Given the description of an element on the screen output the (x, y) to click on. 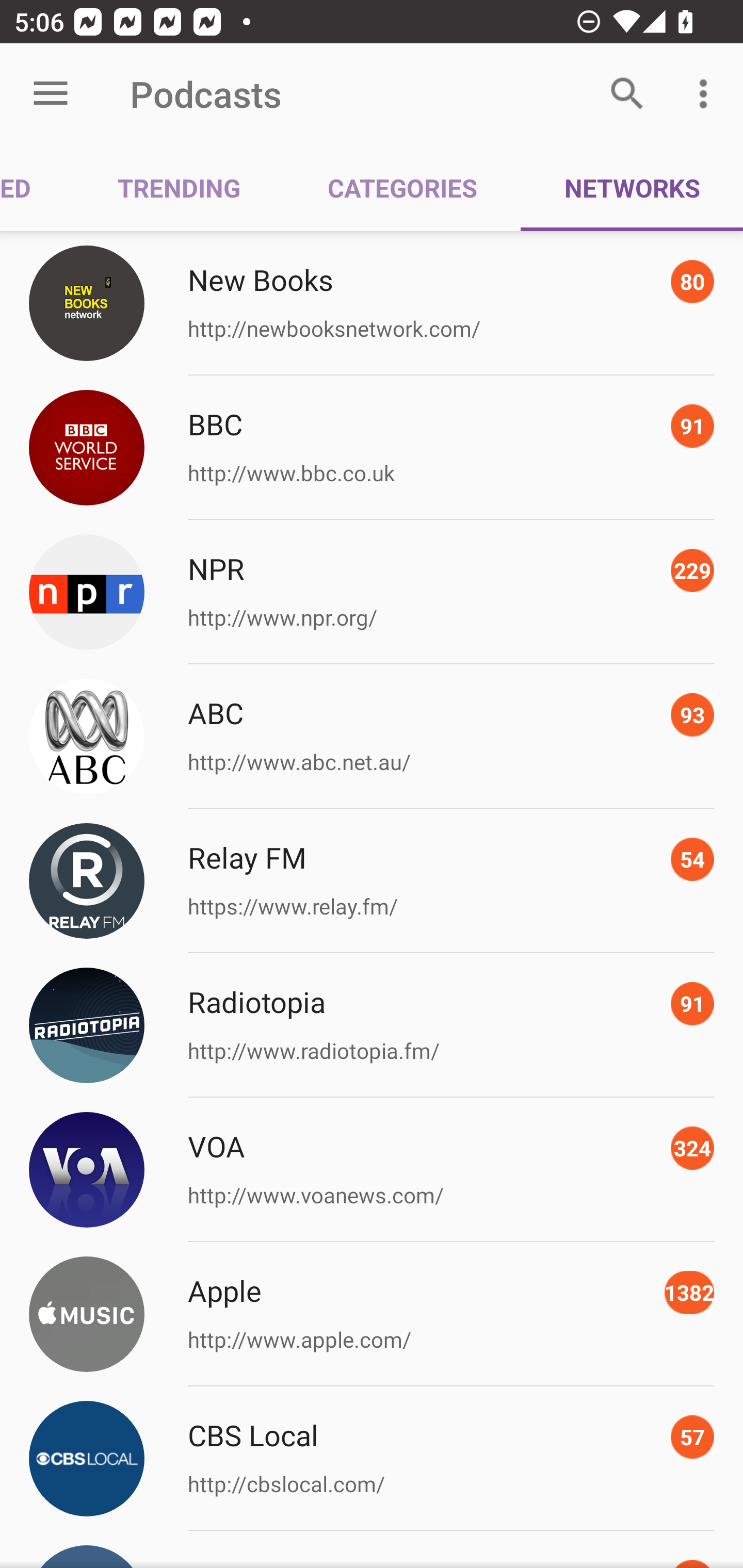
Open menu (50, 93)
Search (626, 93)
More options (706, 93)
TRENDING (178, 187)
CATEGORIES (401, 187)
NETWORKS (631, 187)
Picture New Books 80 http://newbooksnetwork.com/ (371, 302)
Picture BBC 91 http://www.bbc.co.uk (371, 447)
Picture NPR 229 http://www.npr.org/ (371, 592)
Picture ABC 93 http://www.abc.net.au/ (371, 736)
Picture Relay FM 54 https://www.relay.fm/ (371, 881)
Picture Radiotopia 91 http://www.radiotopia.fm/ (371, 1025)
Picture VOA 324 http://www.voanews.com/ (371, 1169)
Picture Apple 1382 http://www.apple.com/ (371, 1313)
Picture CBS Local 57 http://cbslocal.com/ (371, 1458)
